Given the description of an element on the screen output the (x, y) to click on. 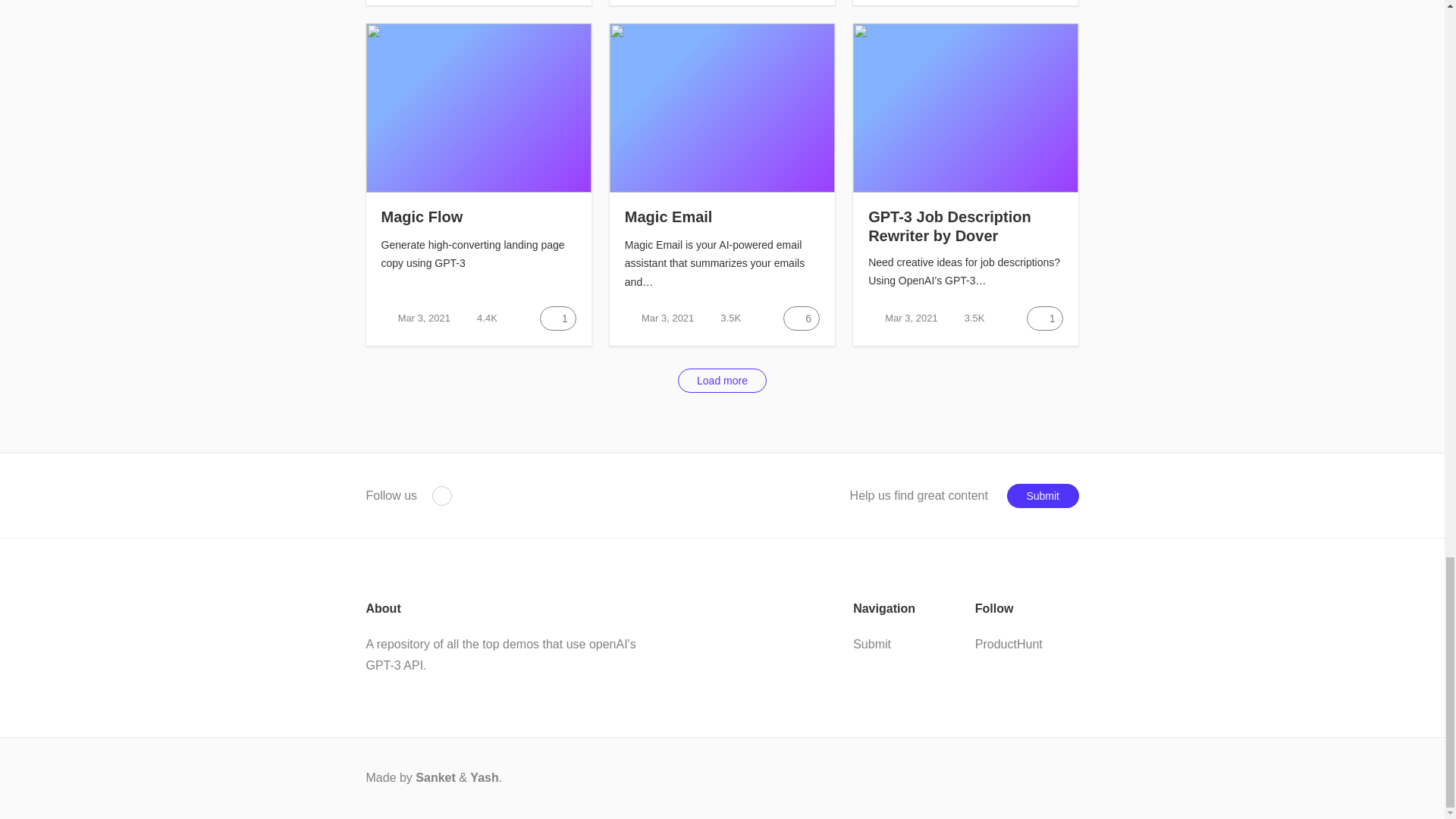
Yash (483, 777)
ProductHunt (1008, 644)
Submit (872, 644)
ProductHunt (441, 496)
Sanket (434, 777)
Submit (1042, 495)
Load more (722, 380)
